Given the description of an element on the screen output the (x, y) to click on. 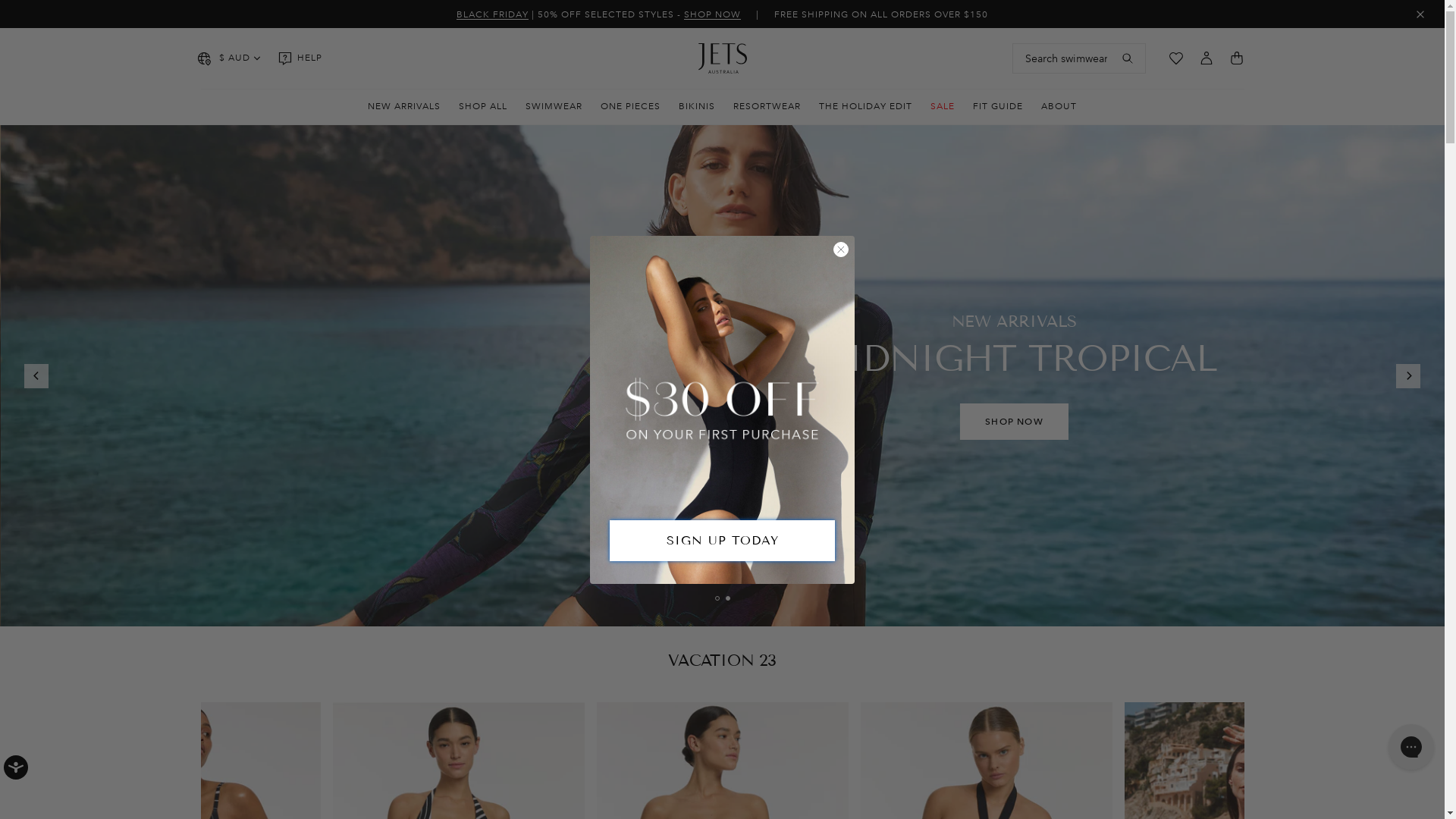
HELP Element type: text (299, 58)
SWIMWEAR Element type: text (553, 106)
ABOUT Element type: text (1058, 106)
THE HOLIDAY EDIT Element type: text (865, 106)
SHOP NOW Element type: text (712, 14)
NEW ARRIVALS
MIDNIGHT TROPICAL
SHOP NOW Element type: text (721, 375)
SHOP ALL Element type: text (482, 106)
Accessibility Element type: text (33, 785)
SALE Element type: text (942, 106)
FIT GUIDE Element type: text (997, 106)
Gorgias live chat messenger Element type: hover (1410, 746)
$ AUD Element type: text (227, 58)
BIKINIS Element type: text (696, 106)
SIGN UP TODAY Element type: text (721, 540)
BLACK FRIDAY Element type: text (492, 14)
LOG IN Element type: text (1205, 58)
Submit Element type: text (25, 9)
BAG
ITEMS Element type: text (1235, 58)
RESORTWEAR Element type: text (766, 106)
ONE PIECES Element type: text (630, 106)
NEW ARRIVALS Element type: text (403, 106)
